Given the description of an element on the screen output the (x, y) to click on. 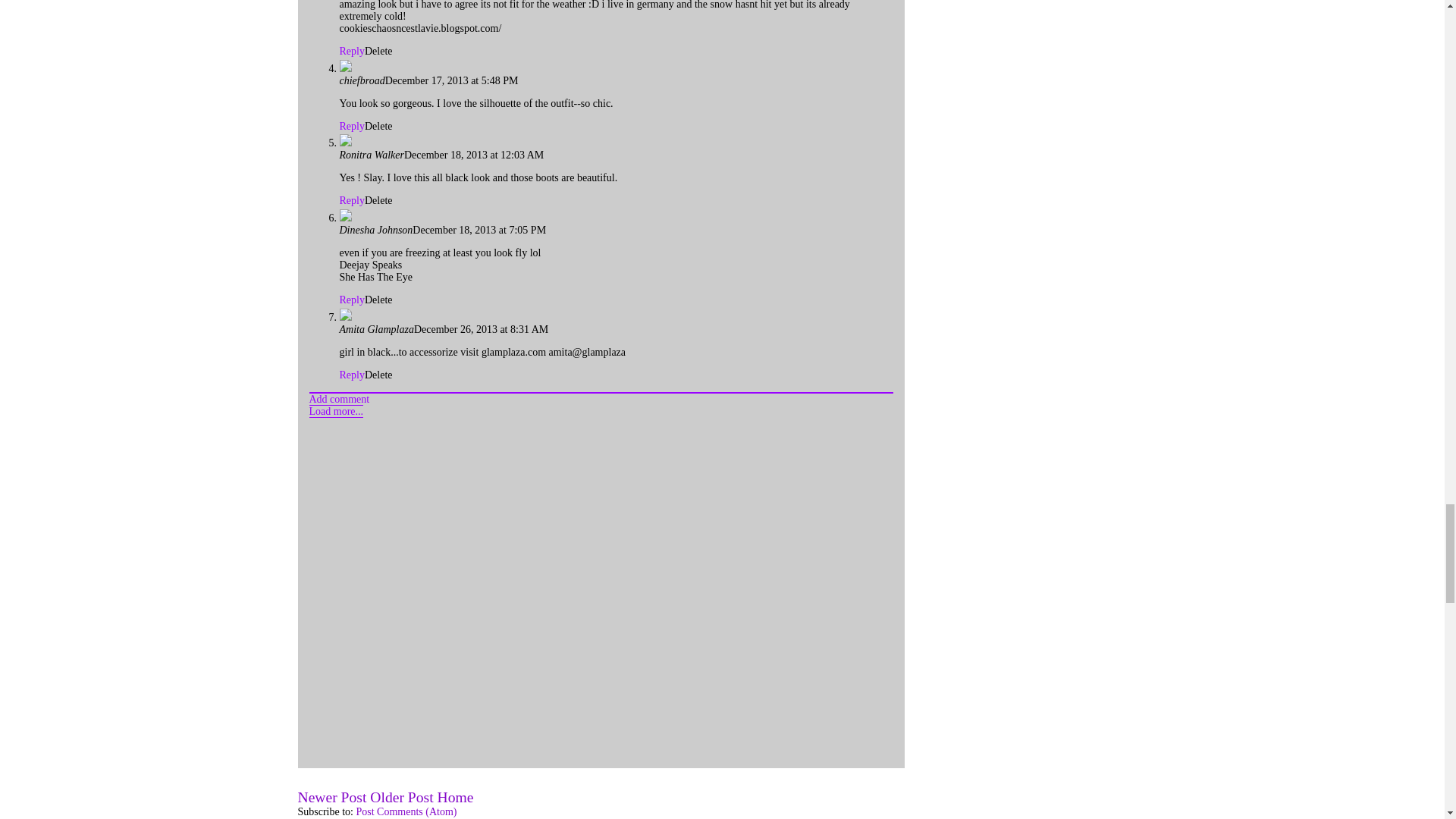
Older Post (400, 797)
Reply (352, 299)
Reply (352, 374)
Newer Post (331, 797)
Load more... (336, 410)
Older Post (400, 797)
Add comment (338, 398)
Newer Post (331, 797)
Reply (352, 200)
Reply (352, 125)
Home (454, 797)
Reply (352, 50)
